Given the description of an element on the screen output the (x, y) to click on. 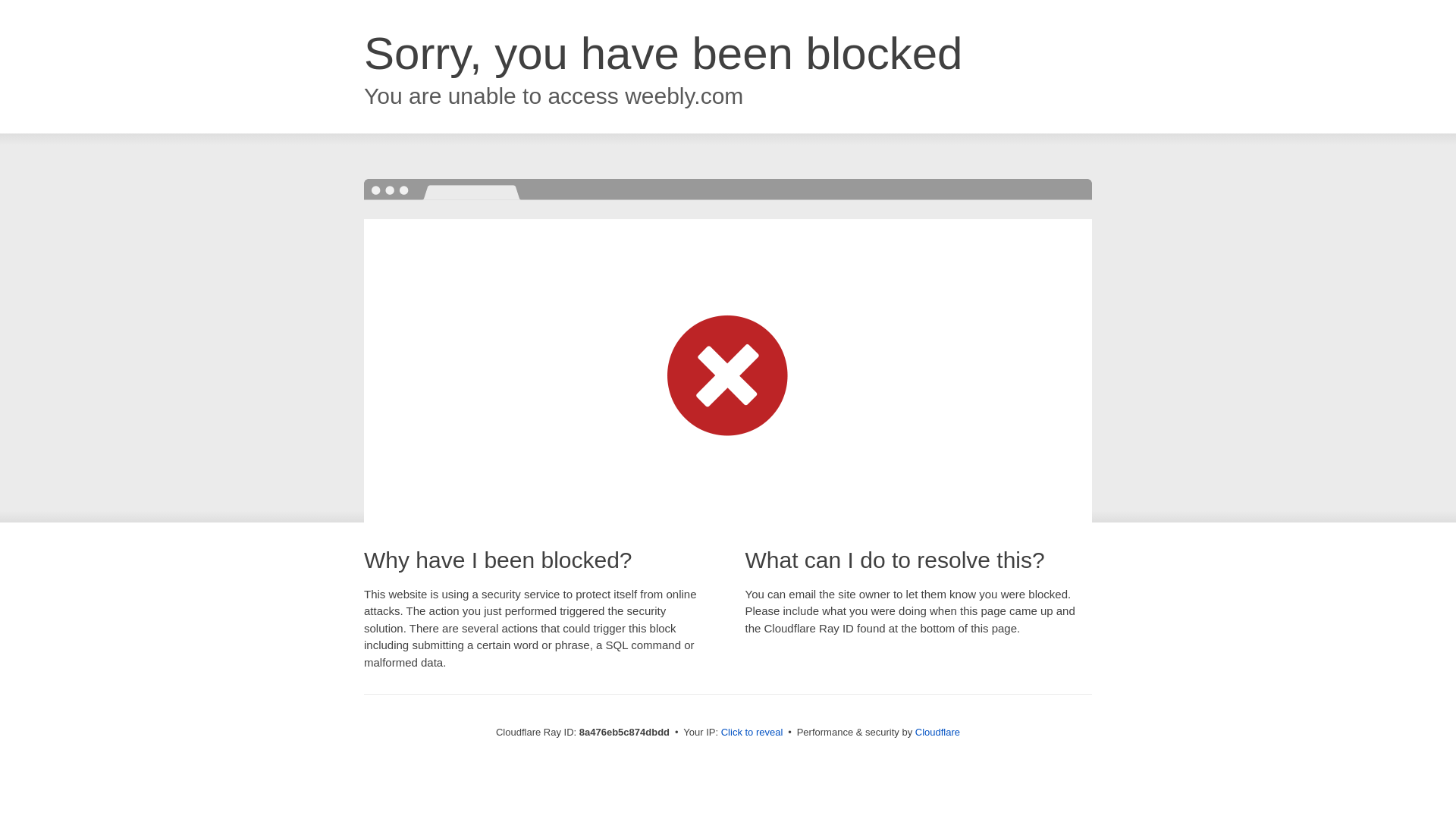
Cloudflare (937, 731)
Click to reveal (751, 732)
